Given the description of an element on the screen output the (x, y) to click on. 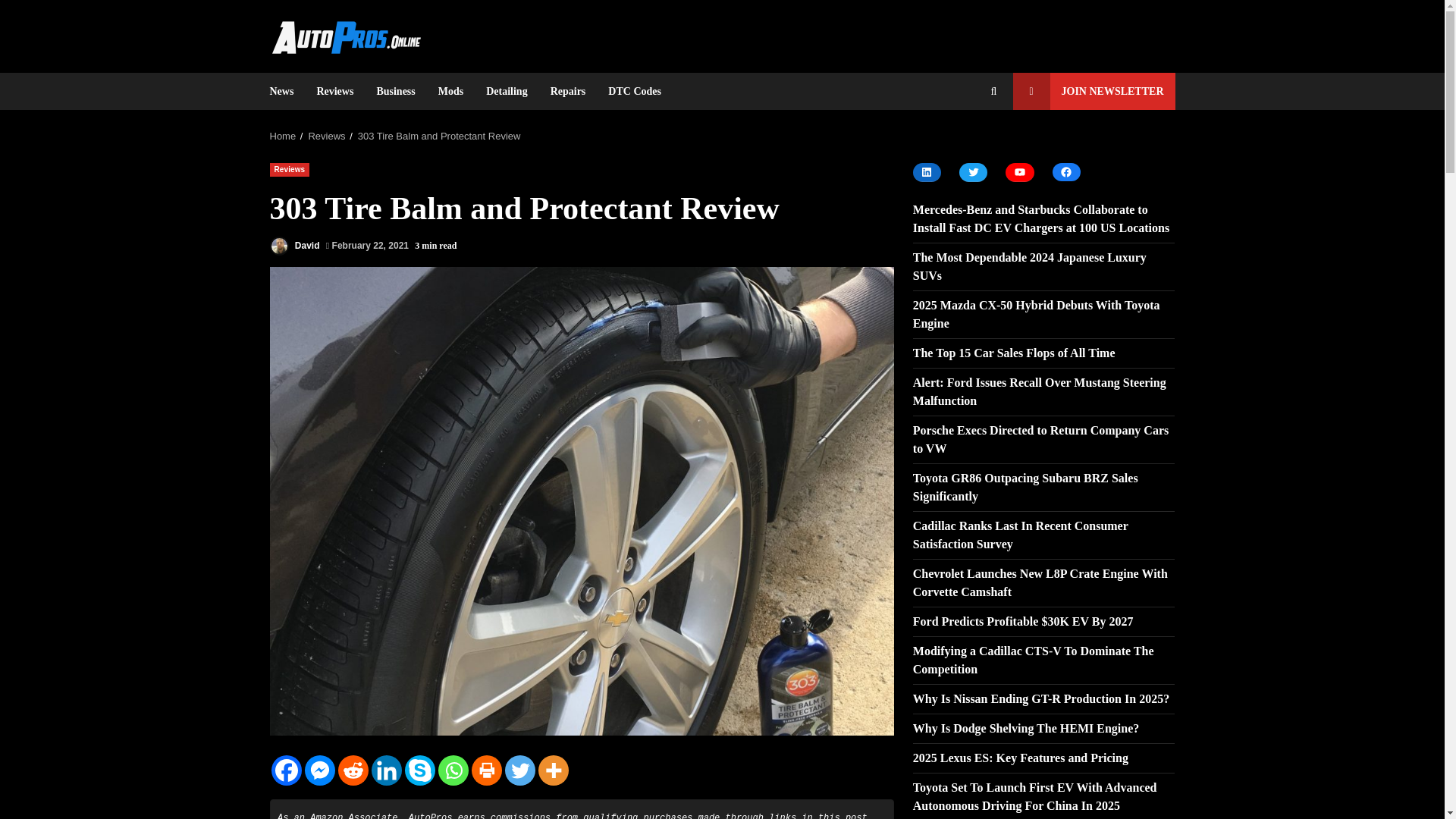
303 Tire Balm and Protectant Review (439, 135)
News (287, 90)
Reddit (352, 770)
Reviews (289, 169)
Mods (450, 90)
Twitter (520, 770)
Print (486, 770)
DTC Codes (628, 90)
Whatsapp (453, 770)
Facebook (285, 770)
Reviews (326, 135)
Search (965, 143)
Home (283, 135)
Repairs (567, 90)
Reviews (334, 90)
